Given the description of an element on the screen output the (x, y) to click on. 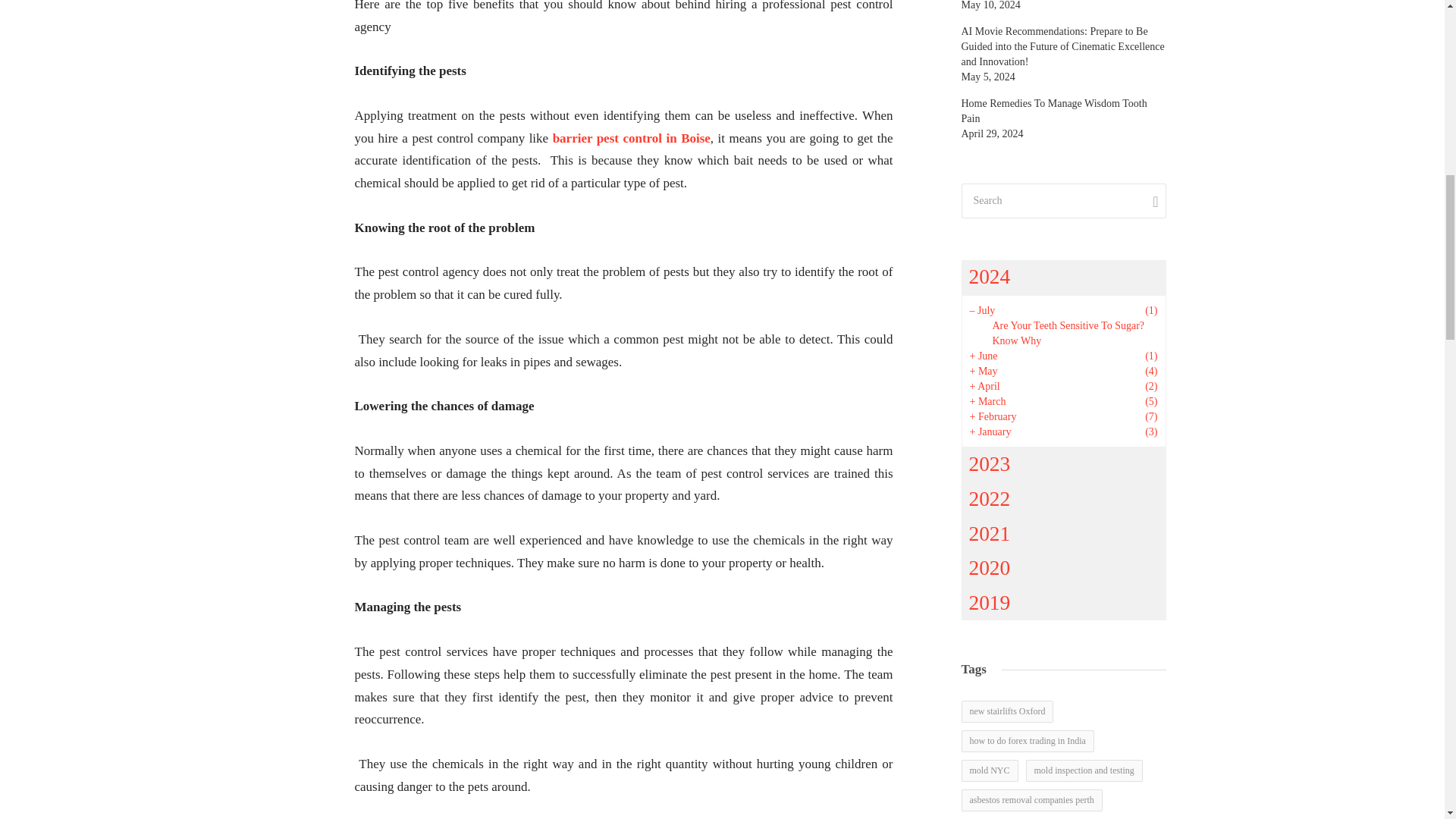
barrier pest control in Boise (631, 138)
